Given the description of an element on the screen output the (x, y) to click on. 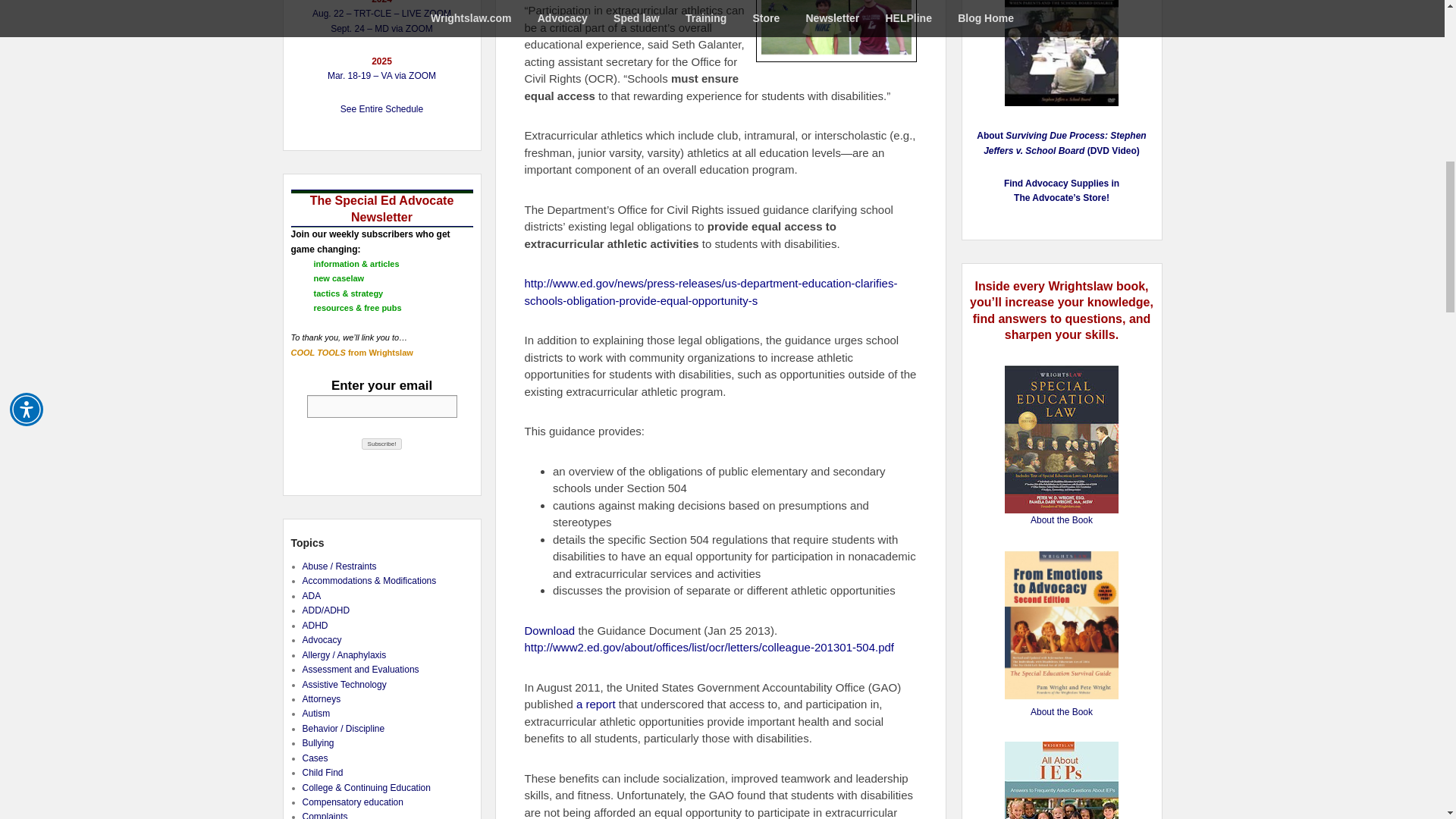
Subscribe! (382, 443)
a report (595, 703)
Download (549, 630)
